Given the description of an element on the screen output the (x, y) to click on. 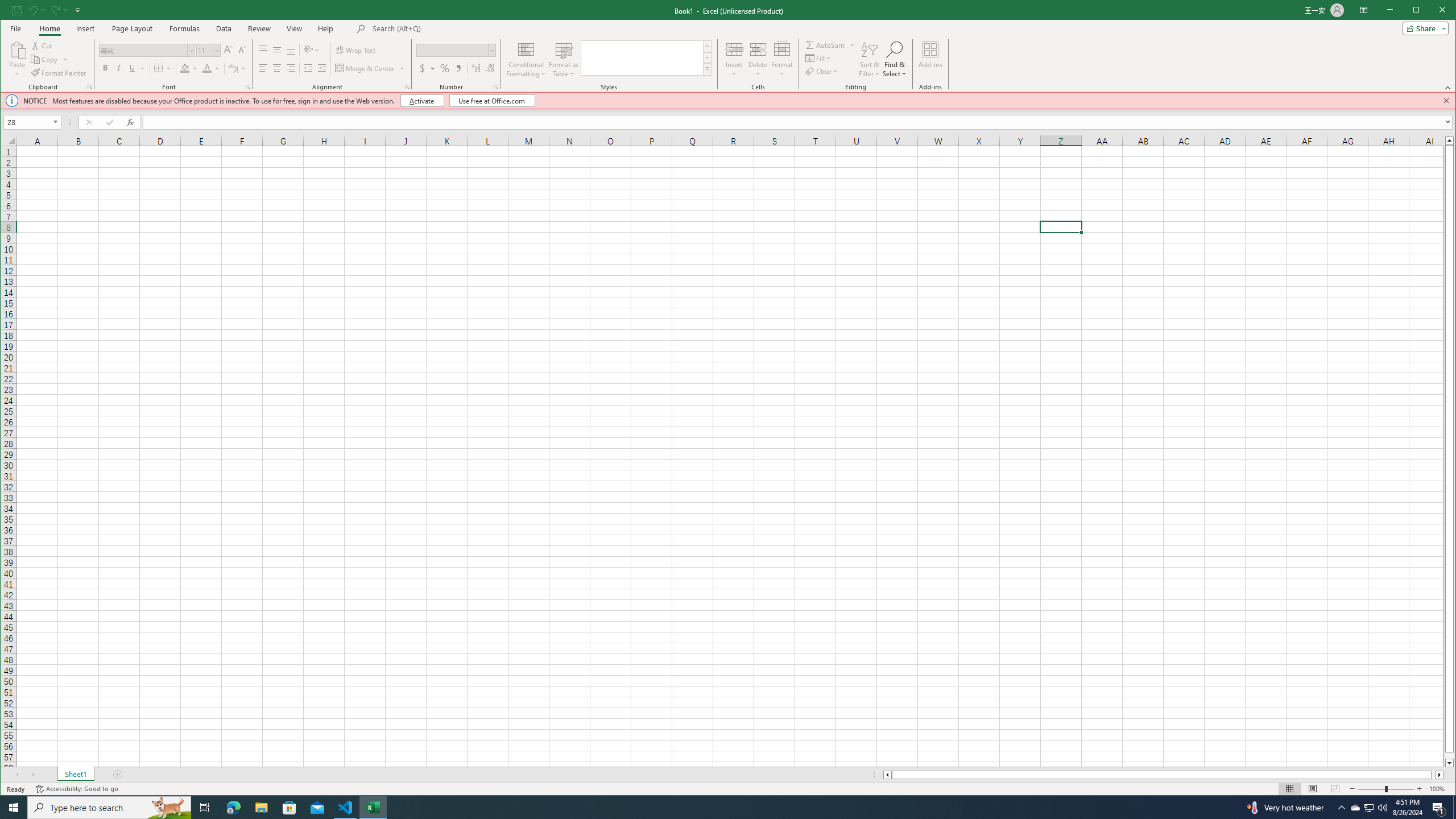
Bold (105, 68)
Accounting Number Format (422, 68)
Paste (17, 59)
